Given the description of an element on the screen output the (x, y) to click on. 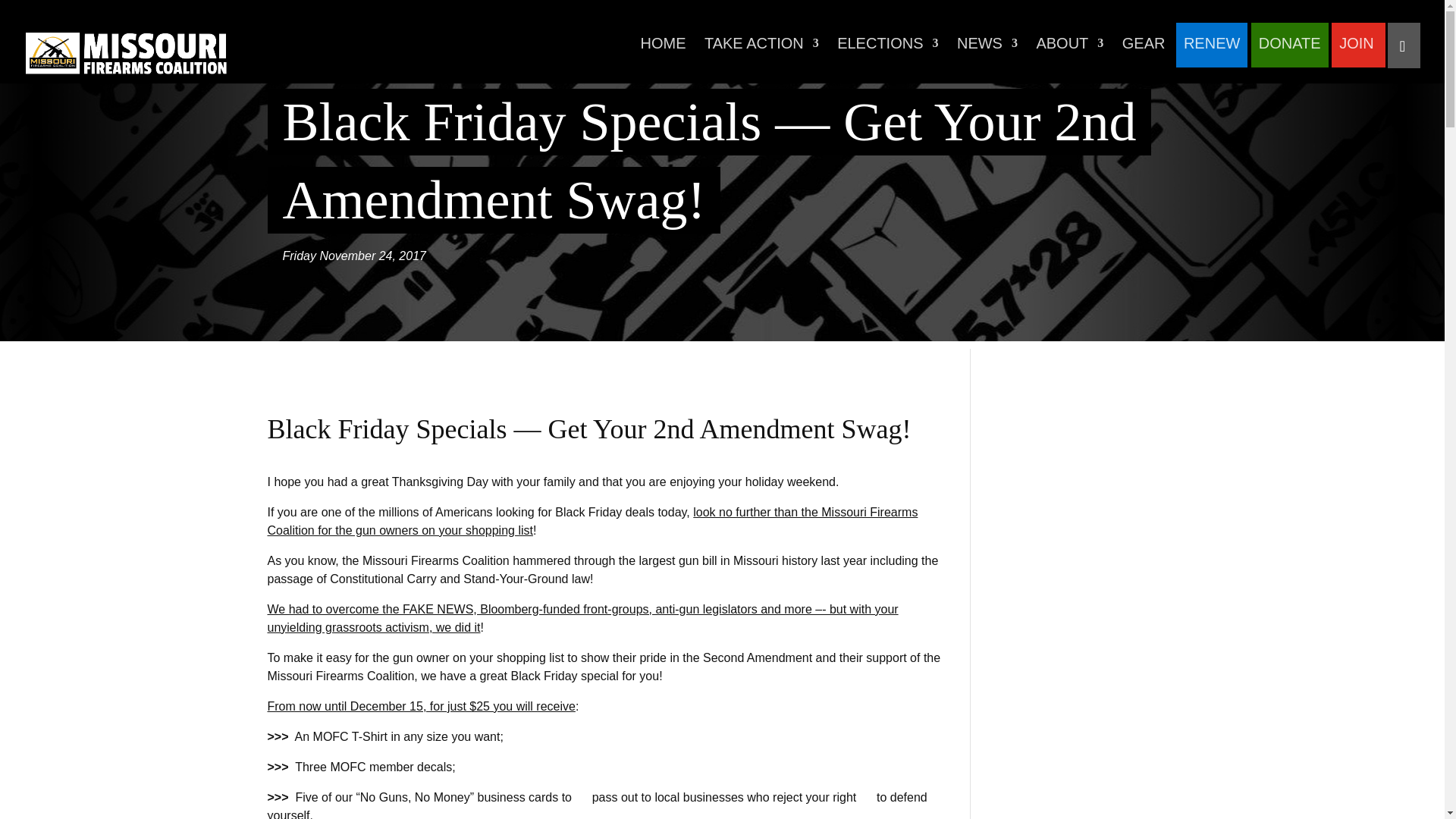
JOIN (1356, 52)
NEWS (986, 52)
ELECTIONS (887, 52)
DONATE (1289, 52)
TAKE ACTION (761, 52)
GEAR (1144, 52)
HOME (662, 52)
ABOUT (1069, 52)
RENEW (1211, 52)
